Given the description of an element on the screen output the (x, y) to click on. 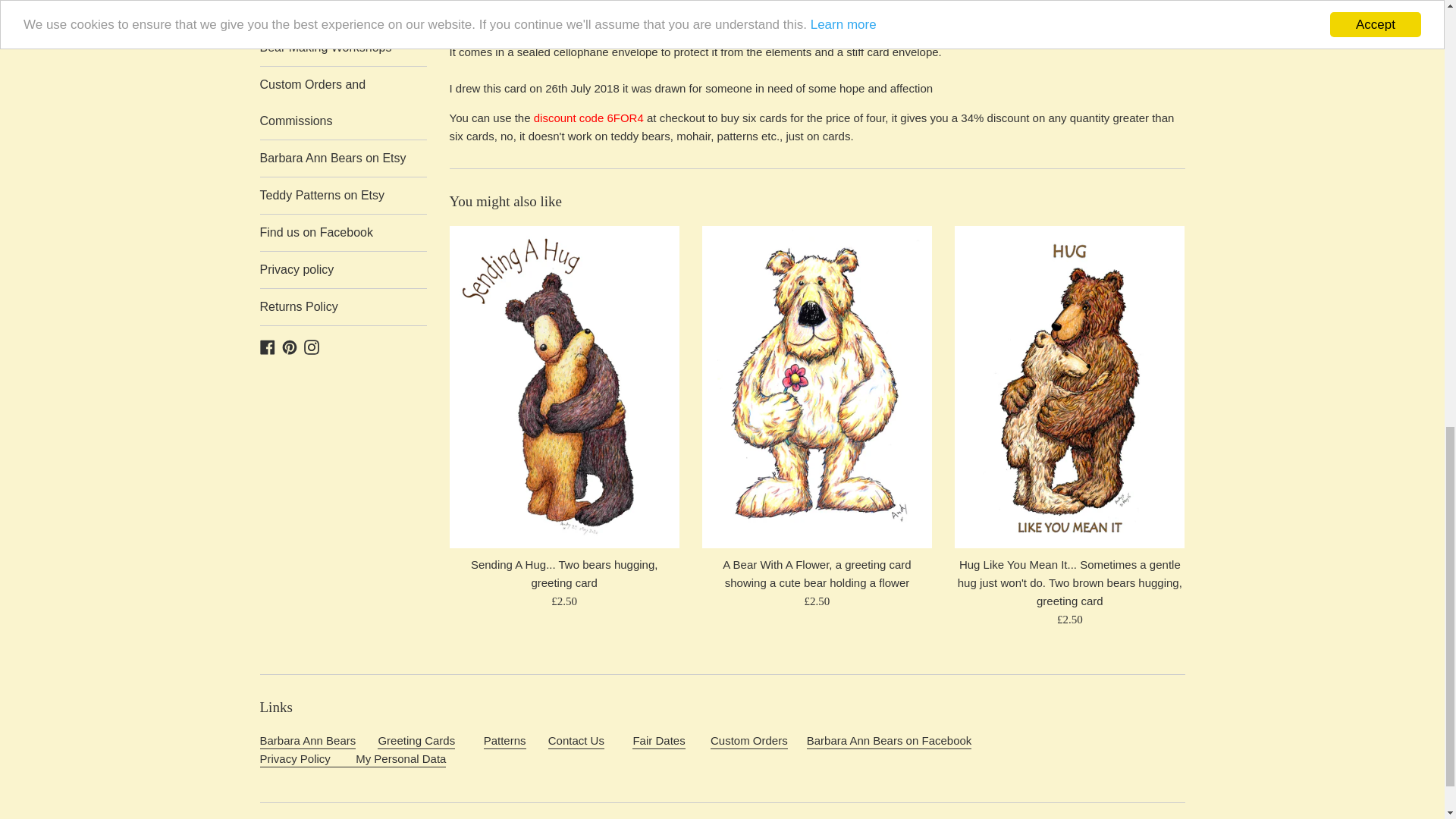
Fair Dates (657, 741)
Custom Orders and Commissions (748, 741)
Privacy policy (342, 269)
Barbara Ann Bears on Facebook (267, 345)
Custom Orders and Commissions (342, 102)
Barbara Ann Bears on Instagram (311, 345)
Returns Policy (342, 307)
Teddy Patterns on Etsy (342, 195)
My Personal Data (352, 759)
